Given the description of an element on the screen output the (x, y) to click on. 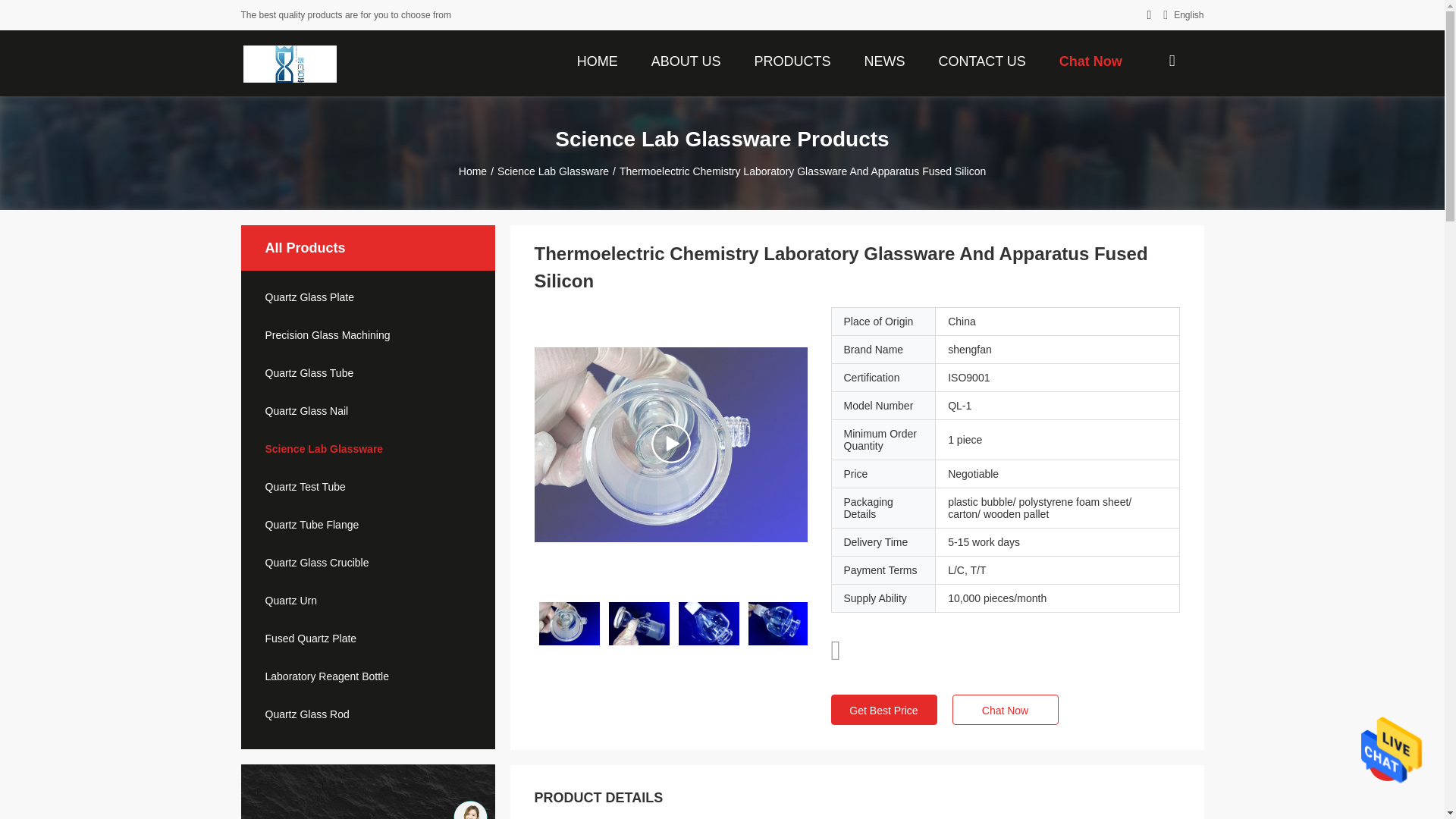
PRODUCTS (792, 60)
ABOUT US (686, 60)
HOME (597, 60)
